Given the description of an element on the screen output the (x, y) to click on. 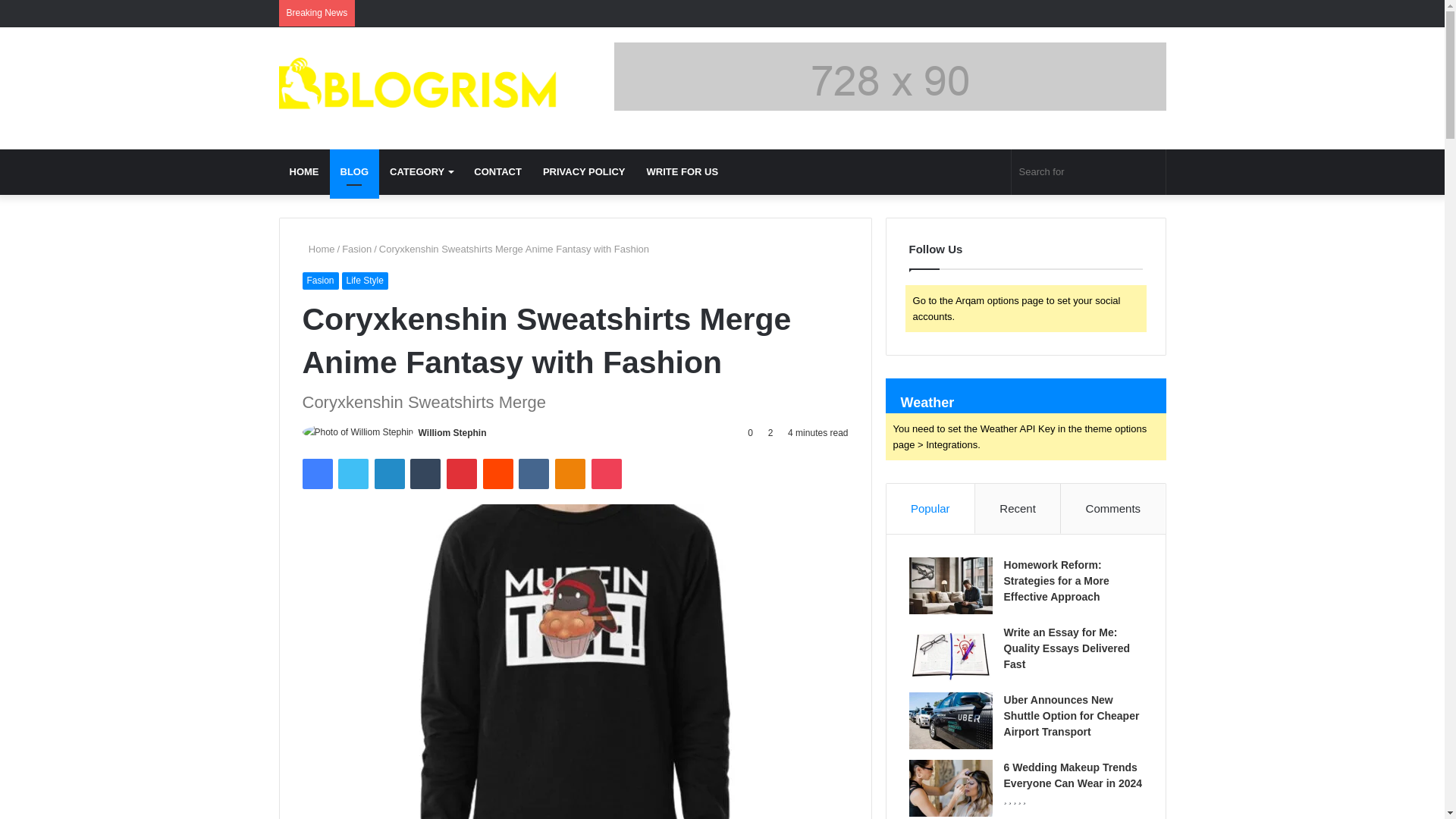
Reddit (498, 473)
Williom Stephin (452, 432)
VKontakte (533, 473)
PRIVACY POLICY (584, 171)
WRITE FOR US (681, 171)
Odnoklassniki (569, 473)
Pinterest (461, 473)
Tumblr (425, 473)
Home (317, 248)
CONTACT (497, 171)
Twitter (352, 473)
LinkedIn (389, 473)
Search for (1088, 171)
Pocket (606, 473)
BLOG (353, 171)
